Given the description of an element on the screen output the (x, y) to click on. 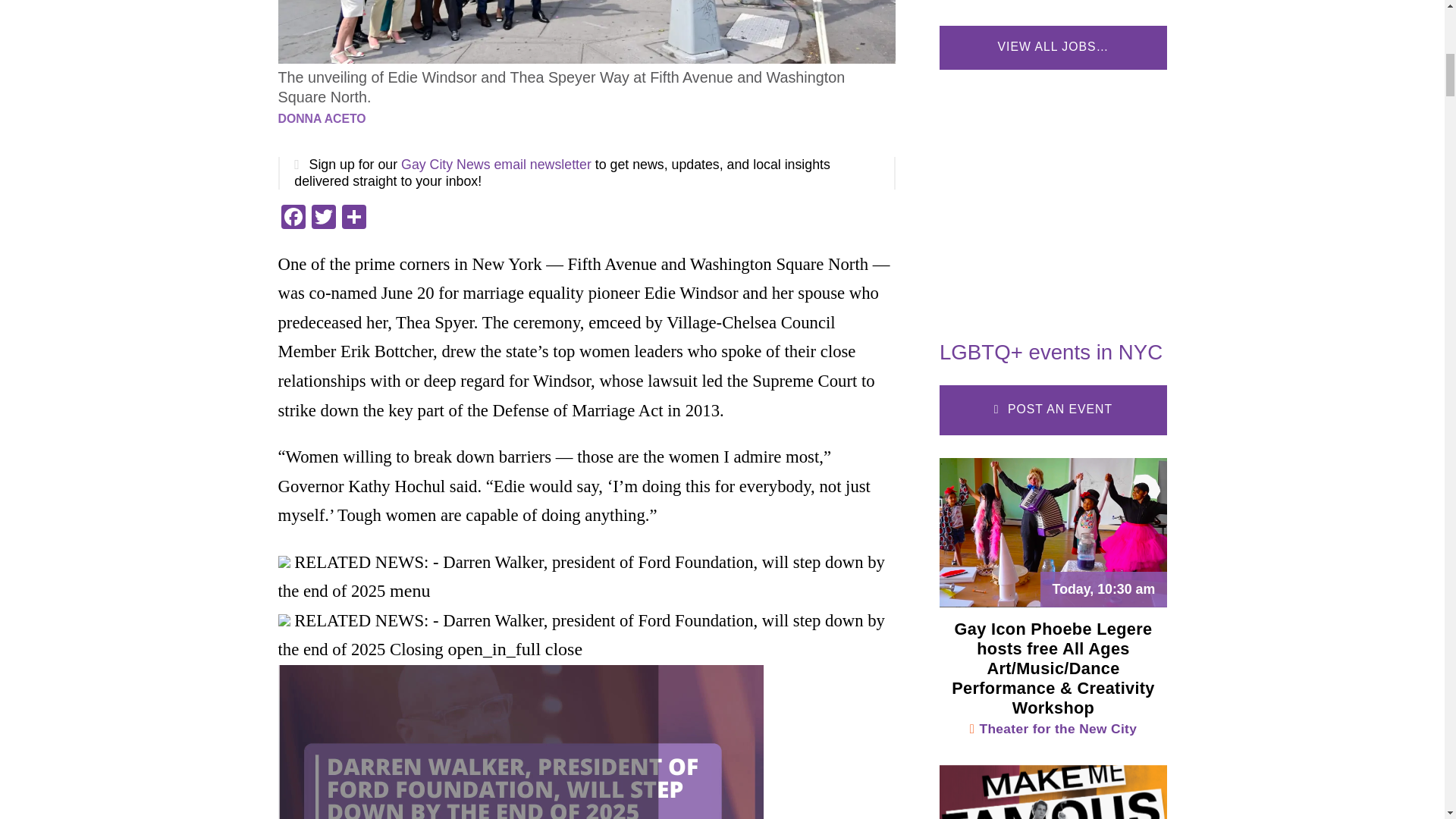
Twitter (322, 218)
Facebook (292, 218)
